Given the description of an element on the screen output the (x, y) to click on. 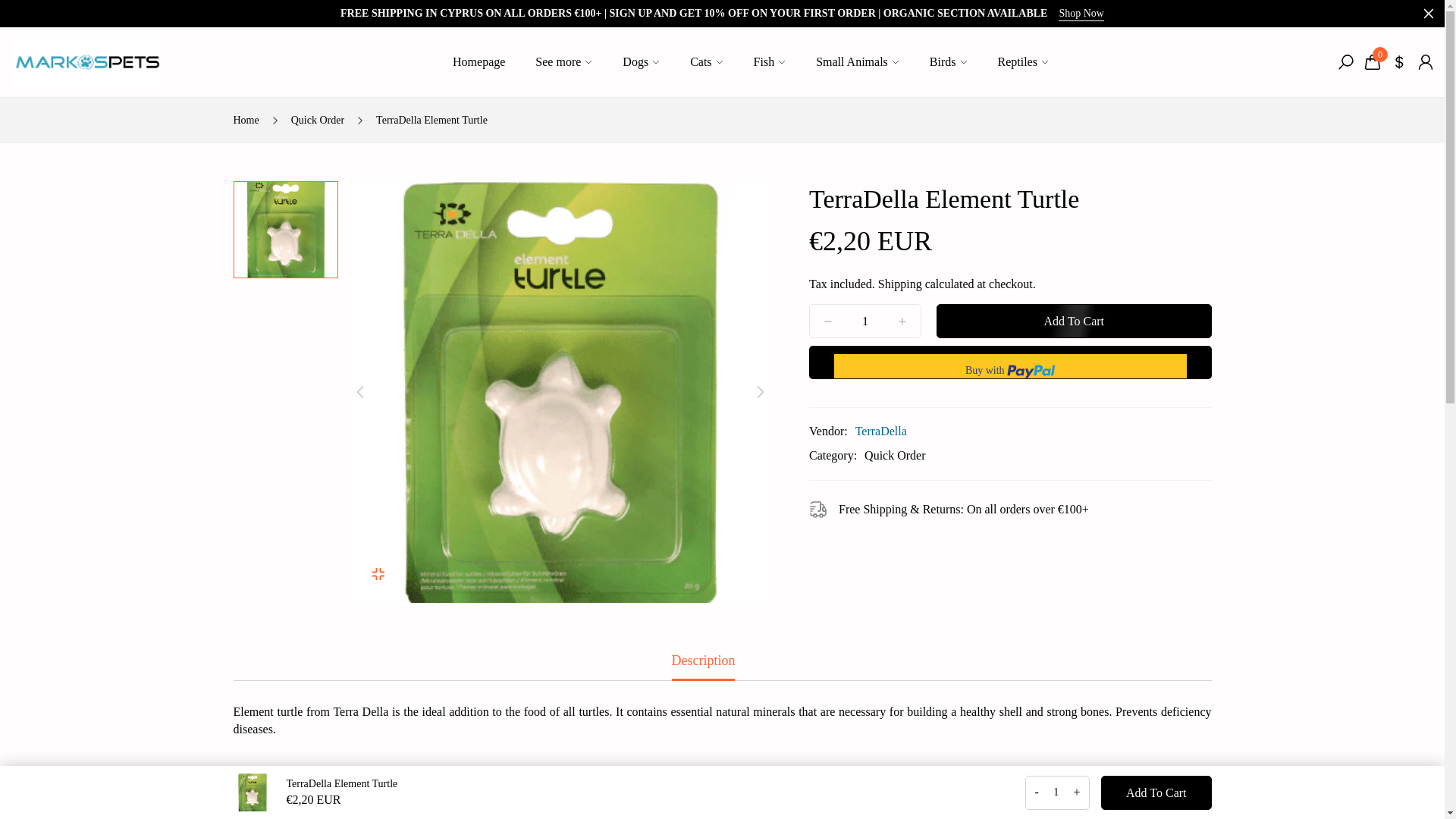
Homepage (478, 62)
Shop Now (1080, 13)
Dogs (641, 62)
1 (865, 320)
See more (563, 62)
See more (563, 62)
Dogs (641, 62)
